Given the description of an element on the screen output the (x, y) to click on. 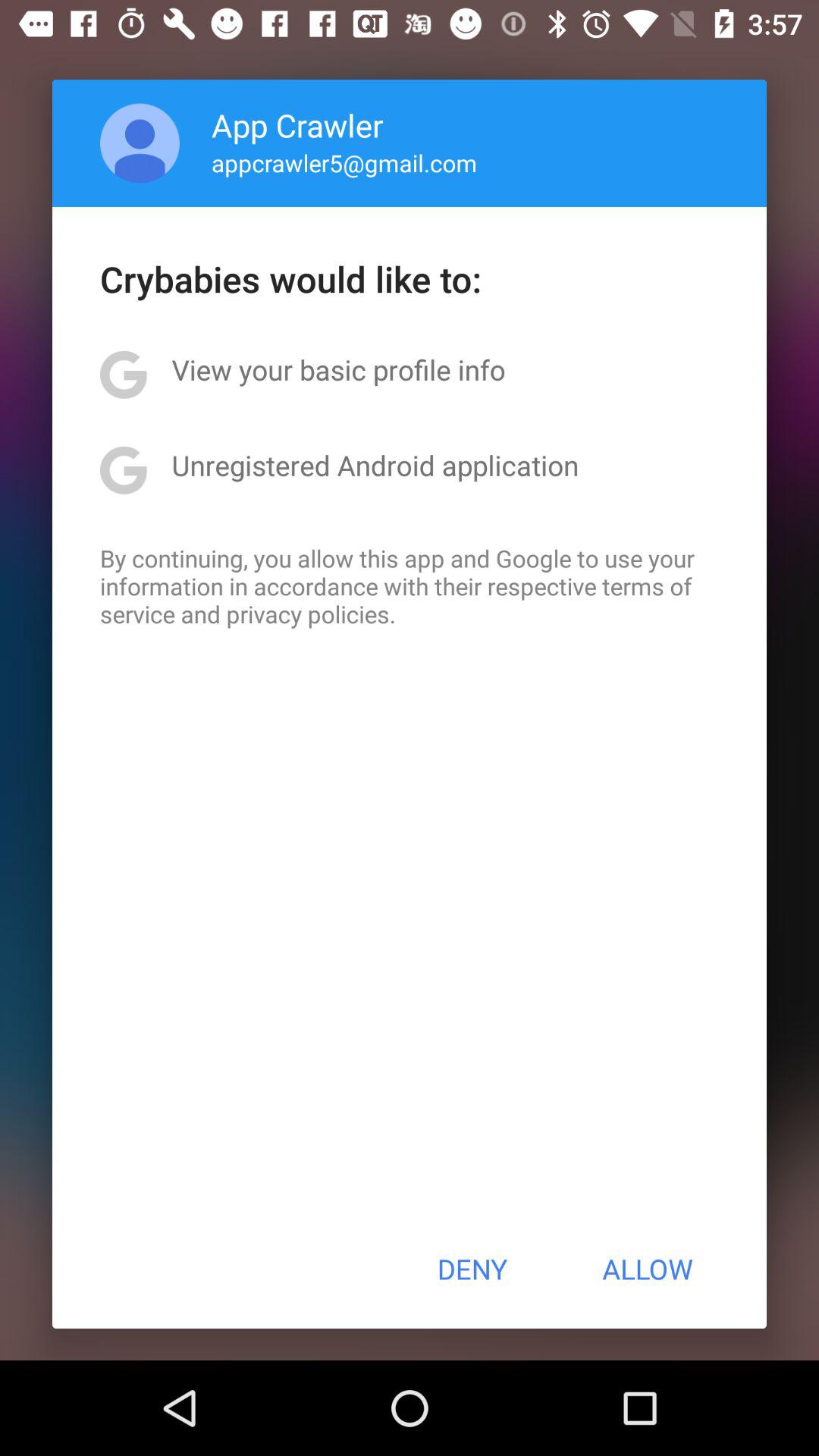
turn on the unregistered android application icon (374, 465)
